Given the description of an element on the screen output the (x, y) to click on. 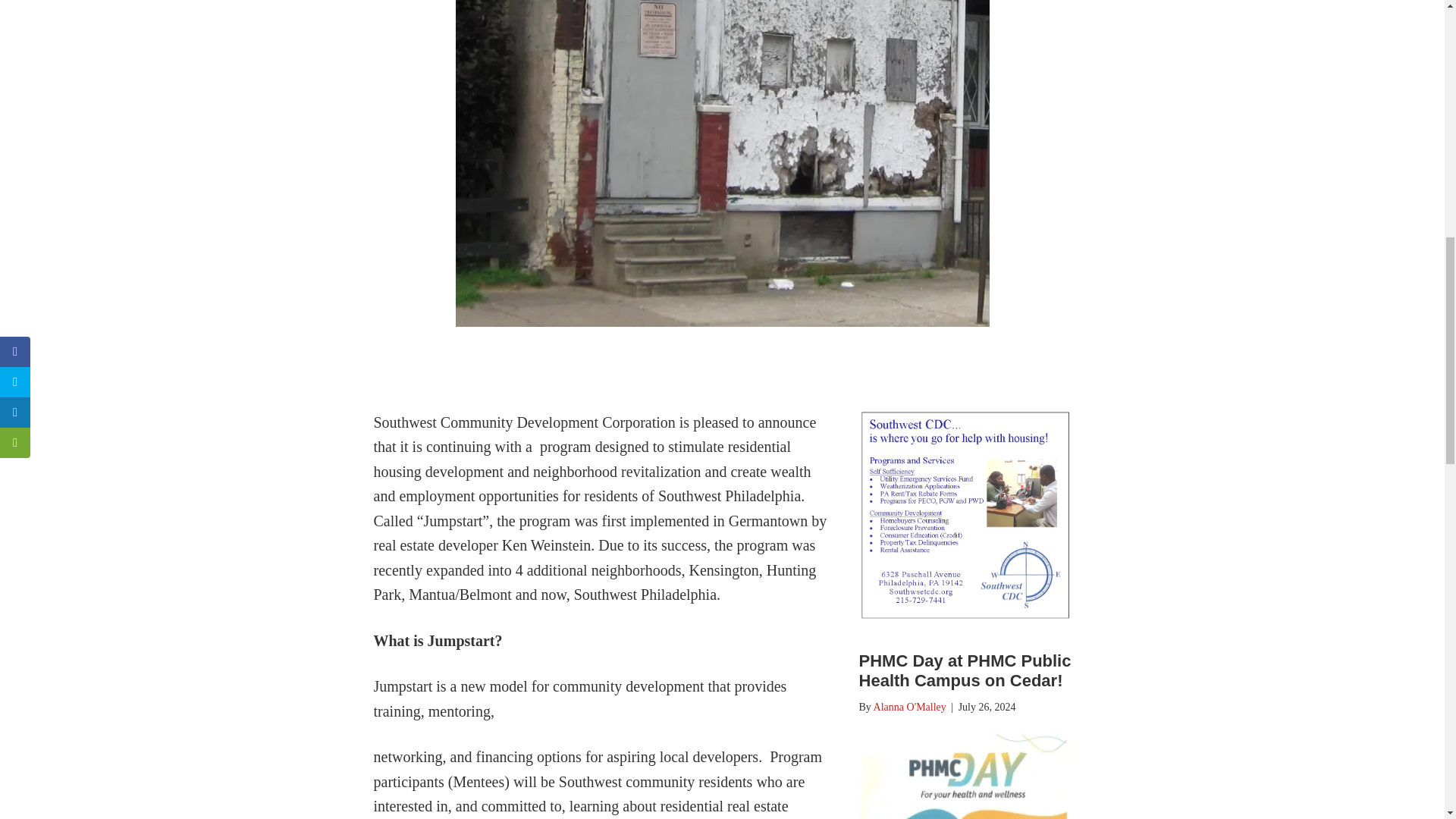
Alanna O'Malley (909, 706)
PHMC Day at PHMC Public Health Campus on Cedar! (965, 670)
CDC general ad 5x5 (965, 515)
PHMC Day at PHMC Public Health Campus on Cedar! (965, 670)
